Given the description of an element on the screen output the (x, y) to click on. 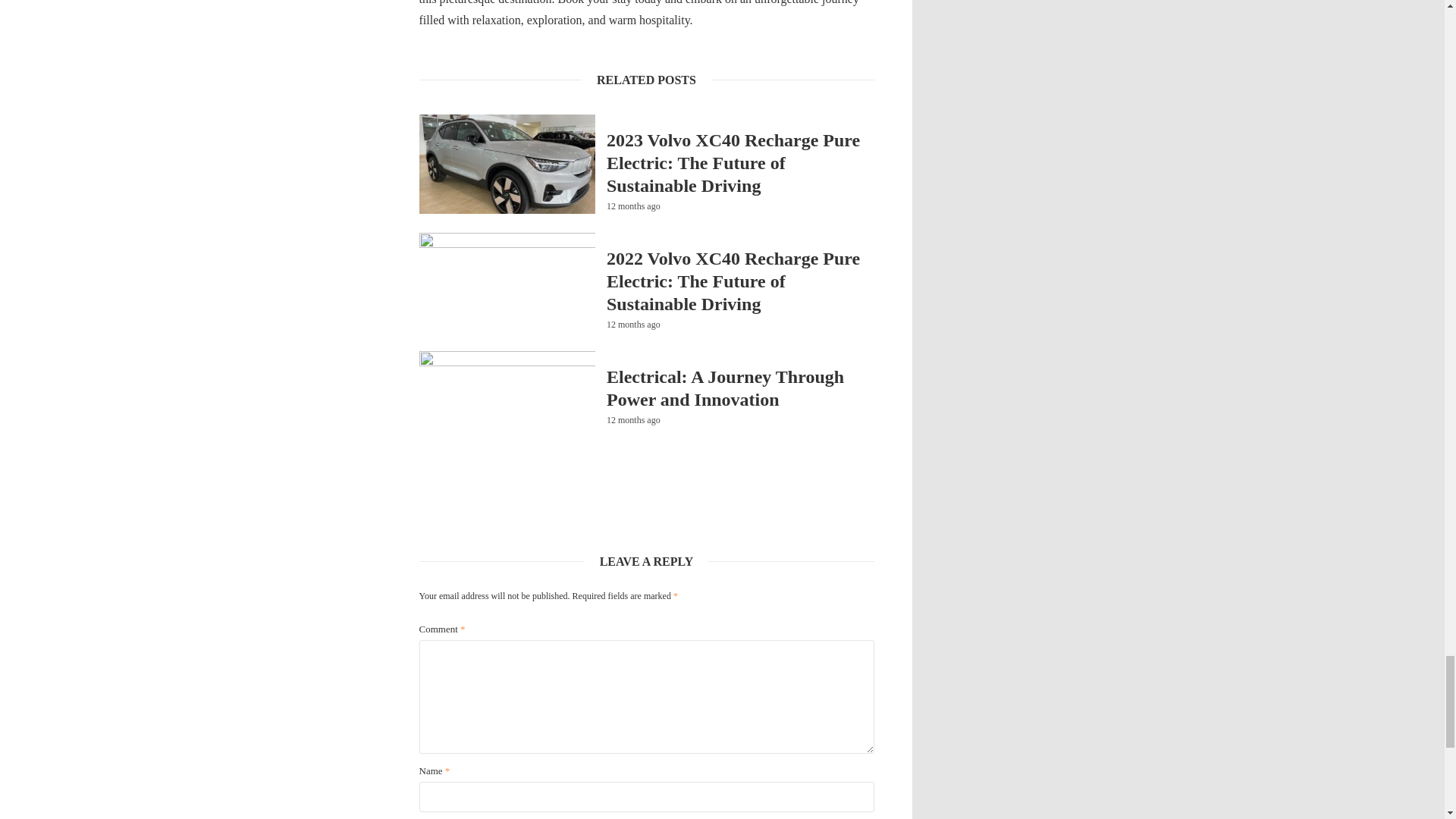
UNCATEGORIZED (642, 118)
Electrical: A Journey Through Power and Innovation (740, 388)
UNCATEGORIZED (642, 355)
UNCATEGORIZED (642, 237)
